Given the description of an element on the screen output the (x, y) to click on. 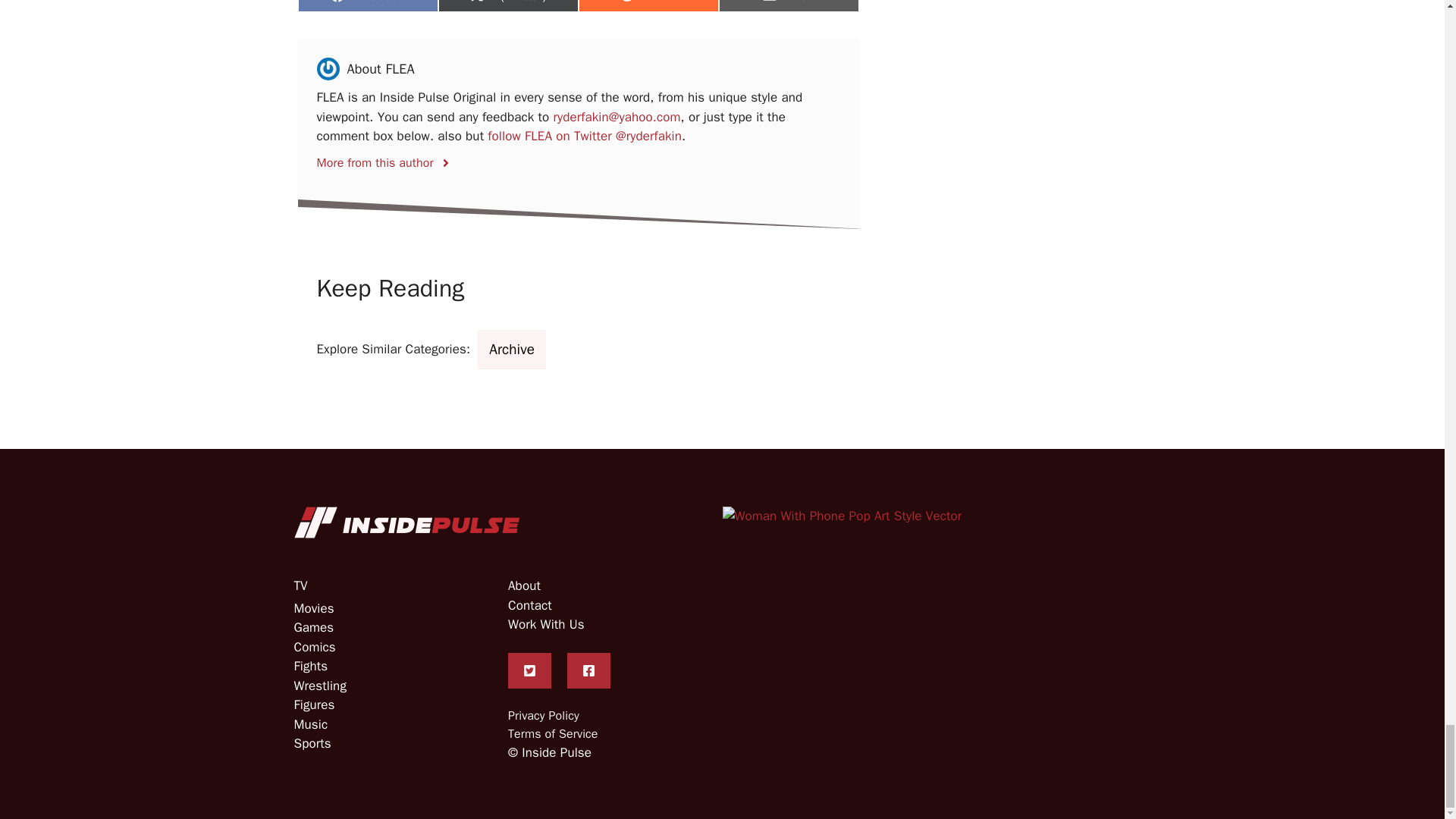
More from this author (384, 158)
Woman with phone pop art style vector (841, 516)
Inside Pulse Reverse Logo A (407, 522)
